Given the description of an element on the screen output the (x, y) to click on. 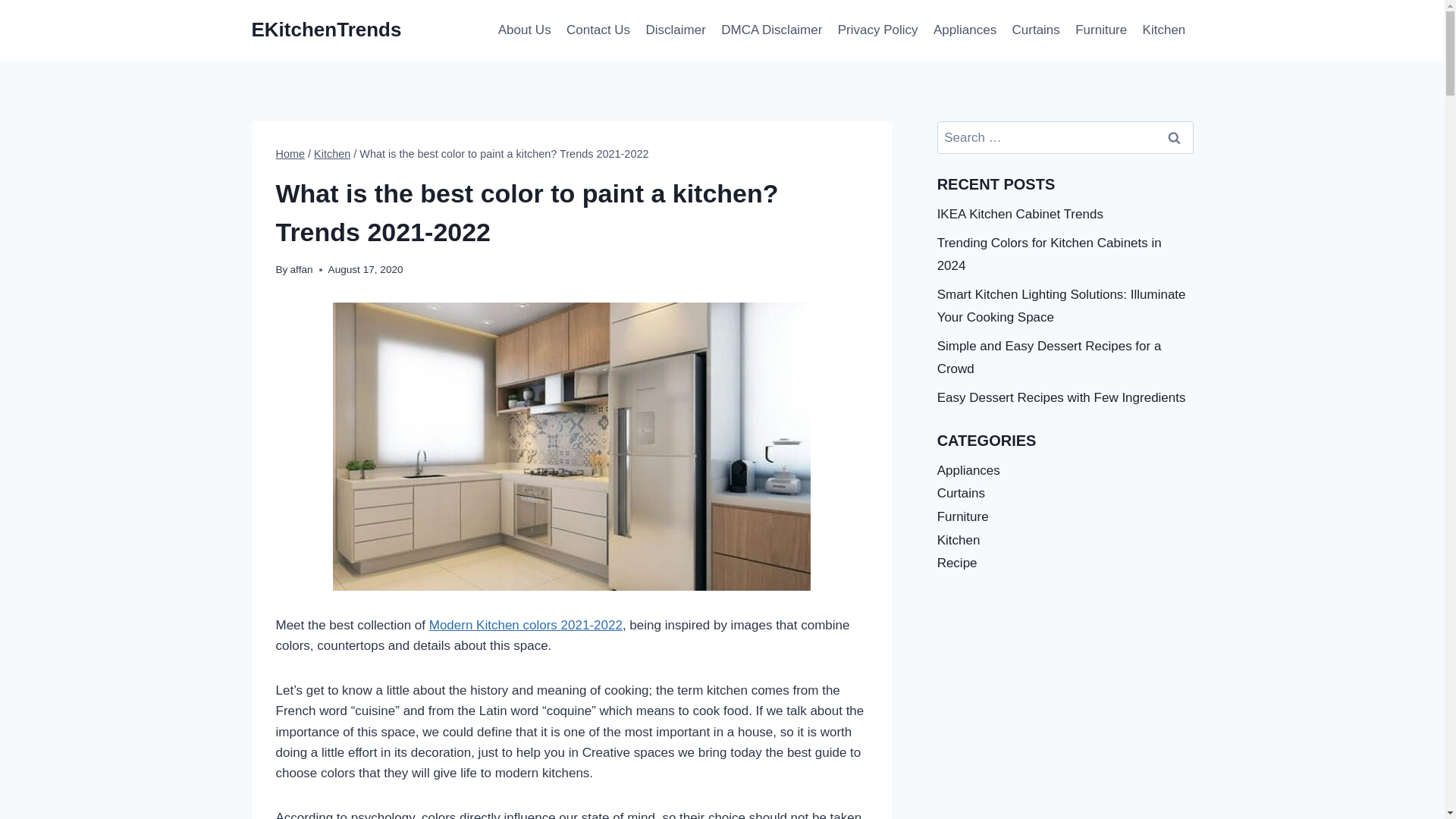
EKitchenTrends (326, 29)
Privacy Policy (877, 30)
affan (301, 269)
Curtains (1035, 30)
Modern Kitchen colors 2021-2022 (526, 625)
Kitchen (332, 153)
Contact Us (598, 30)
About Us (524, 30)
DMCA Disclaimer (771, 30)
Search (1174, 137)
Home (290, 153)
Appliances (965, 30)
Disclaimer (675, 30)
Kitchen (1163, 30)
Search (1174, 137)
